Given the description of an element on the screen output the (x, y) to click on. 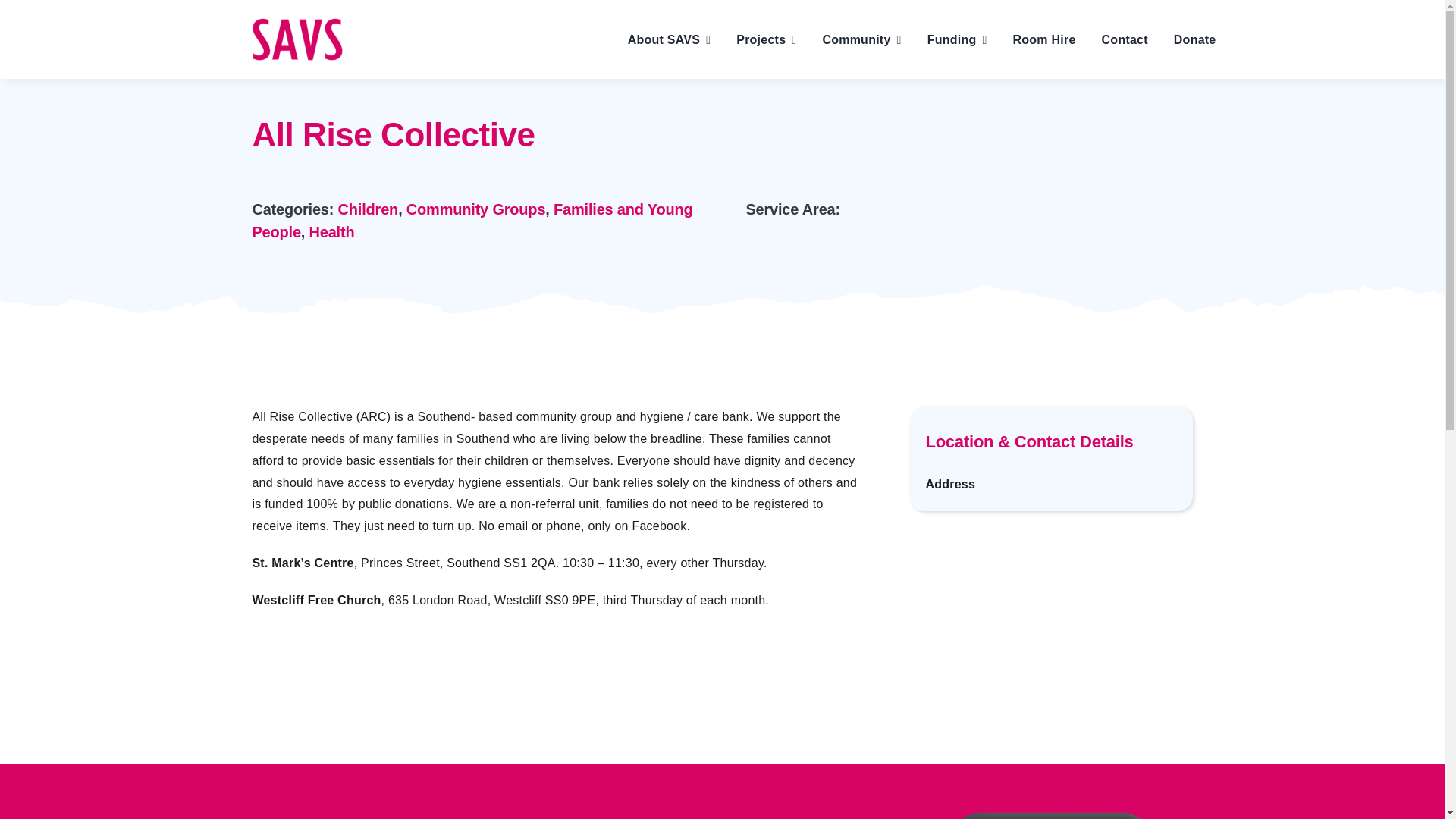
Projects (766, 39)
Families and Young People (472, 220)
About SAVS (669, 39)
Room Hire (1044, 39)
Funding (957, 39)
Health (331, 231)
Community (861, 39)
Children (367, 208)
Community Groups (475, 208)
SAVS App for Footer (1051, 791)
